Given the description of an element on the screen output the (x, y) to click on. 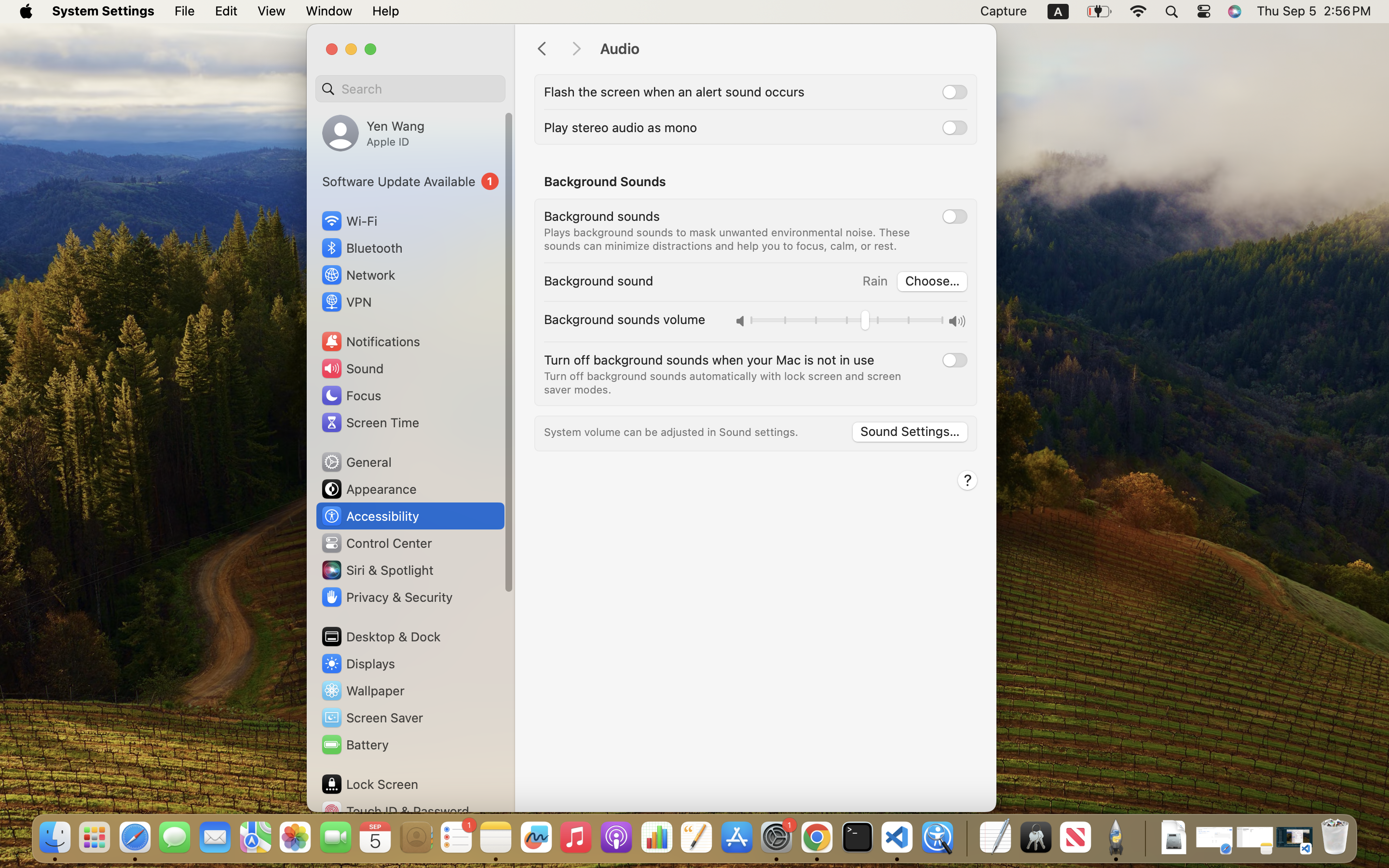
Touch ID & Password Element type: AXStaticText (394, 810)
Control Center Element type: AXStaticText (376, 542)
